Given the description of an element on the screen output the (x, y) to click on. 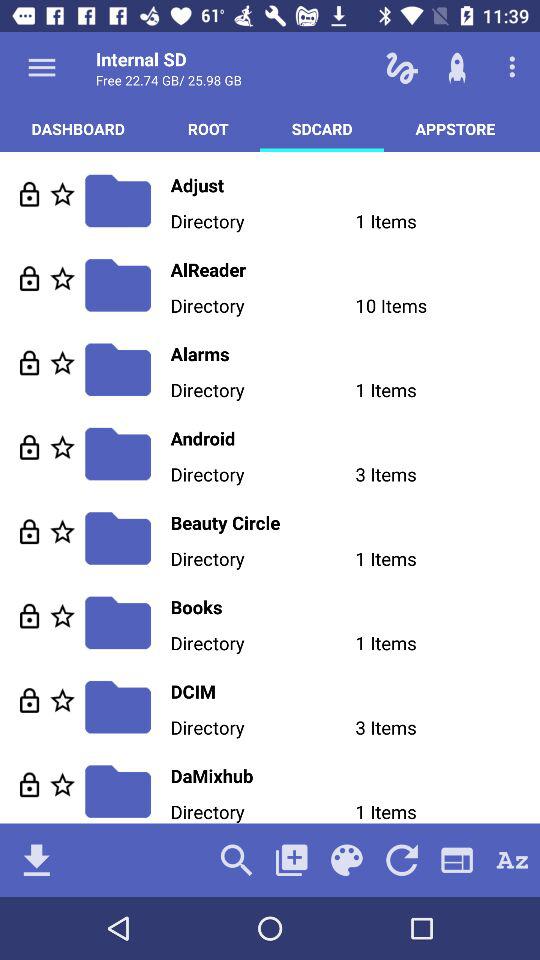
jump to books (355, 606)
